Given the description of an element on the screen output the (x, y) to click on. 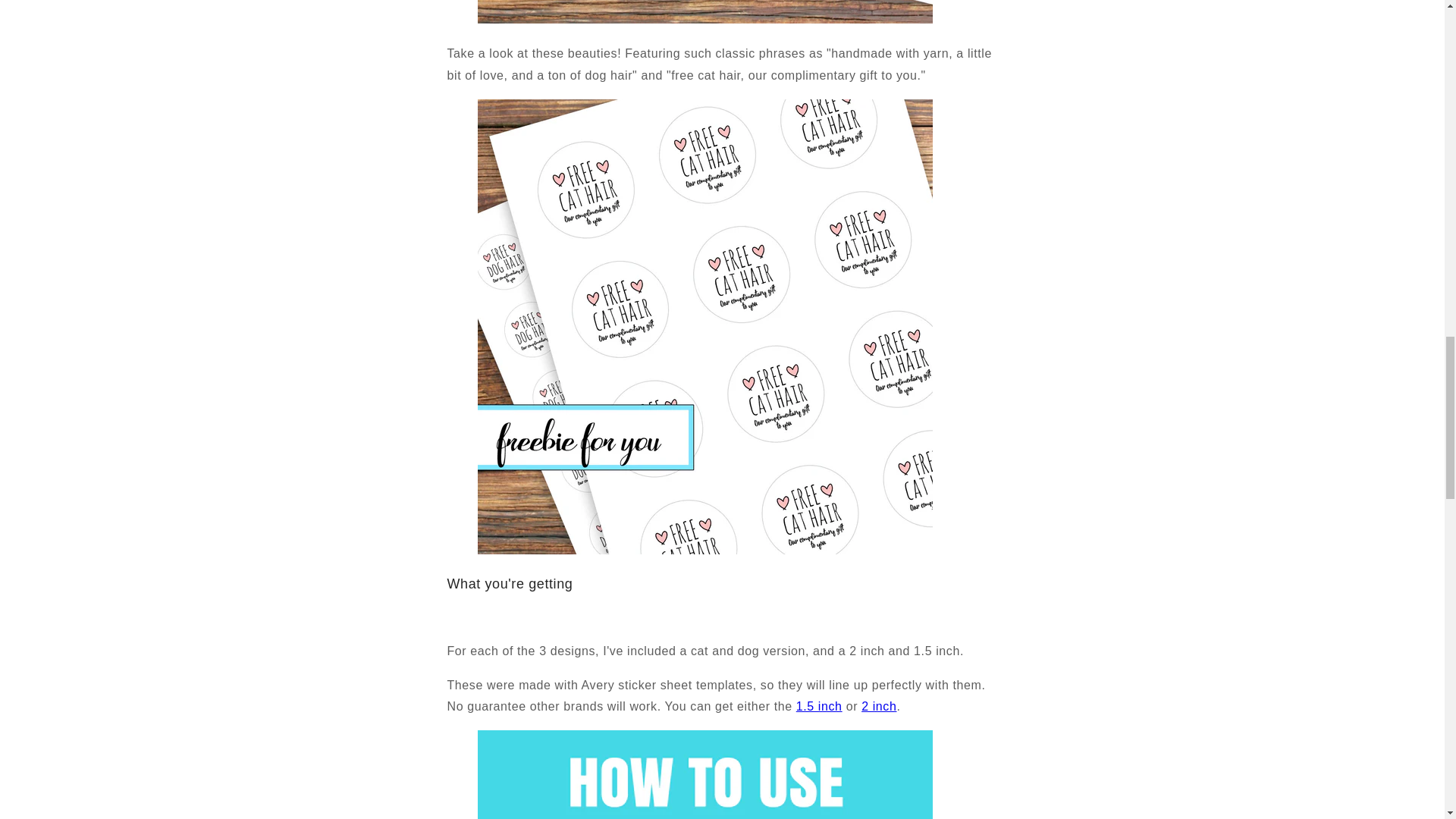
1.5 inch (819, 706)
